Given the description of an element on the screen output the (x, y) to click on. 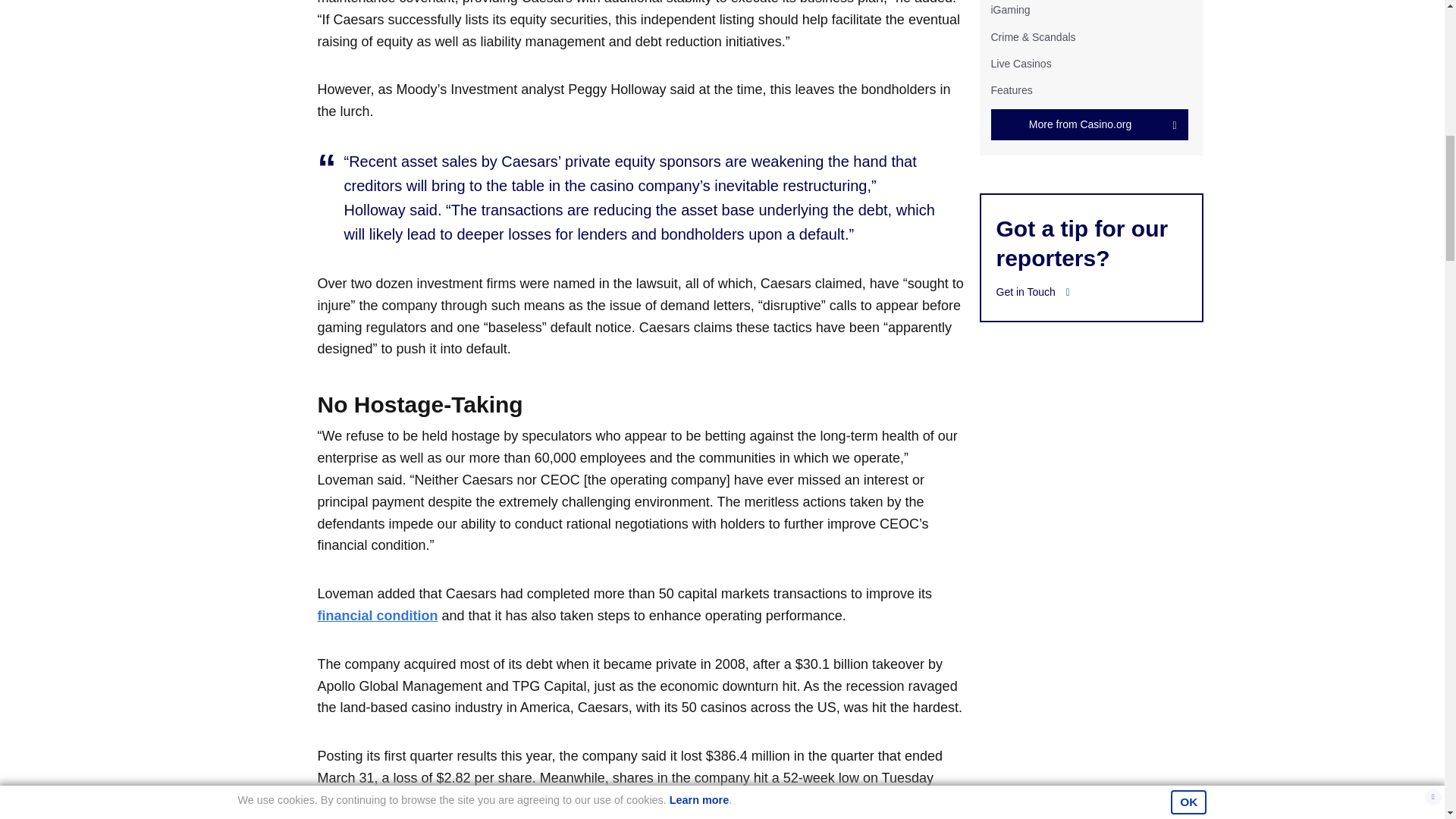
iGaming (1009, 9)
Features (1011, 90)
financial condition (377, 615)
Debt-ridden Caesars Entertainment - nypost.com Nov. 2013 (377, 615)
Live Casinos (1020, 63)
